Given the description of an element on the screen output the (x, y) to click on. 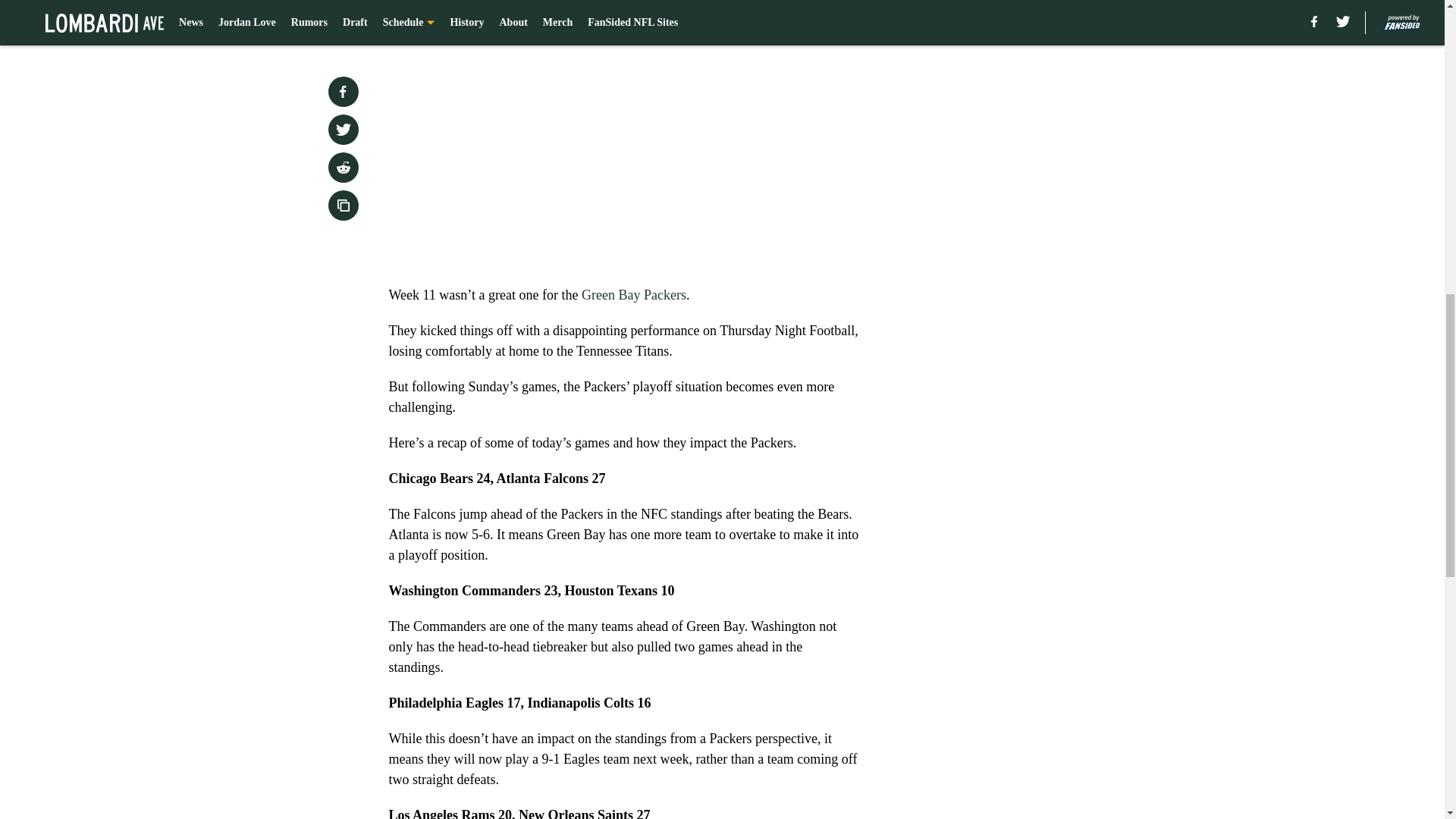
Green Bay Packers (632, 294)
